Given the description of an element on the screen output the (x, y) to click on. 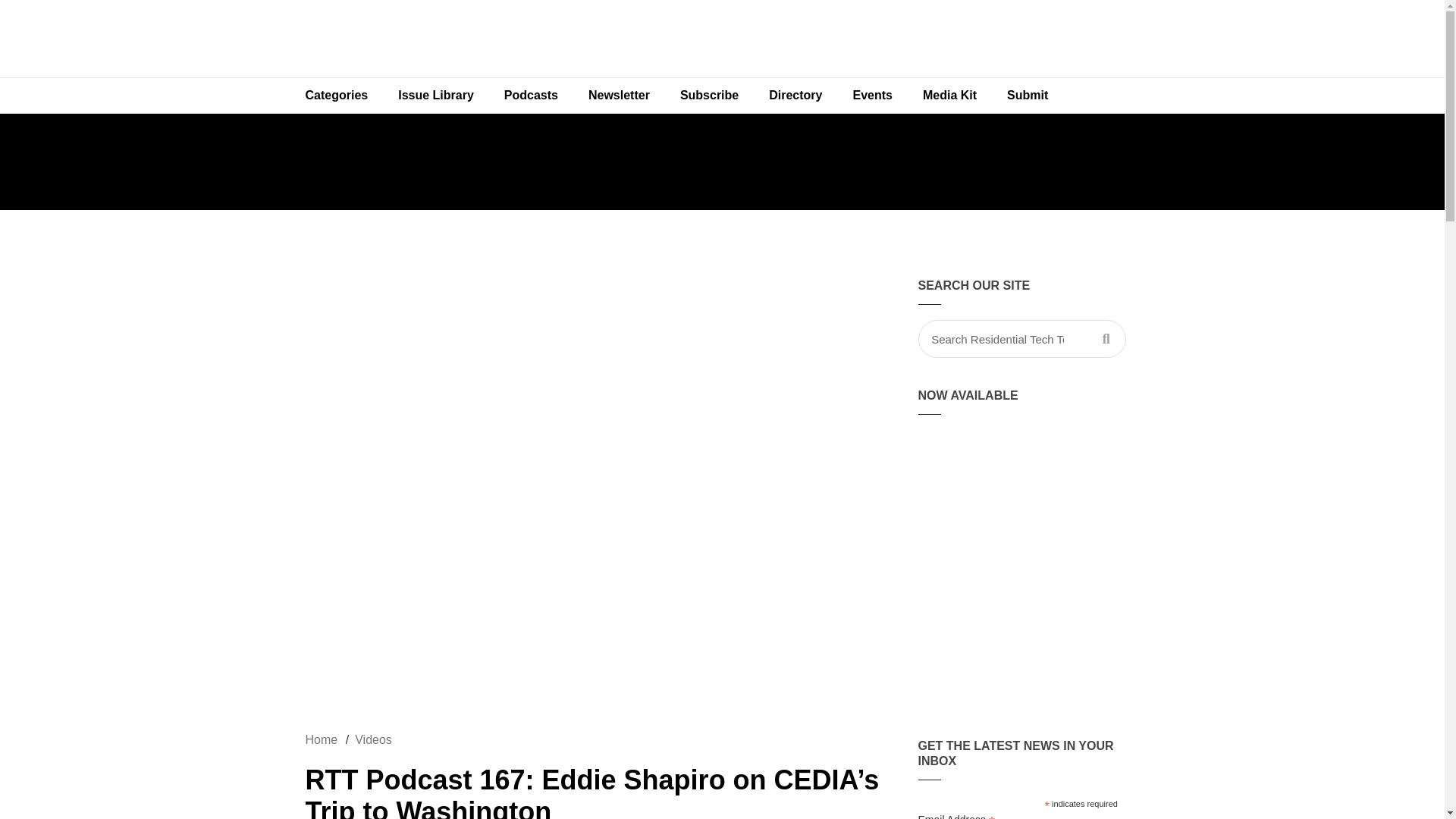
Submit (1026, 95)
Issue Library (435, 95)
Podcasts (531, 95)
Events (872, 95)
Media Kit (949, 95)
Subscribe (709, 95)
Videos (373, 739)
Home (320, 739)
Newsletter (619, 95)
Categories (335, 95)
